Given the description of an element on the screen output the (x, y) to click on. 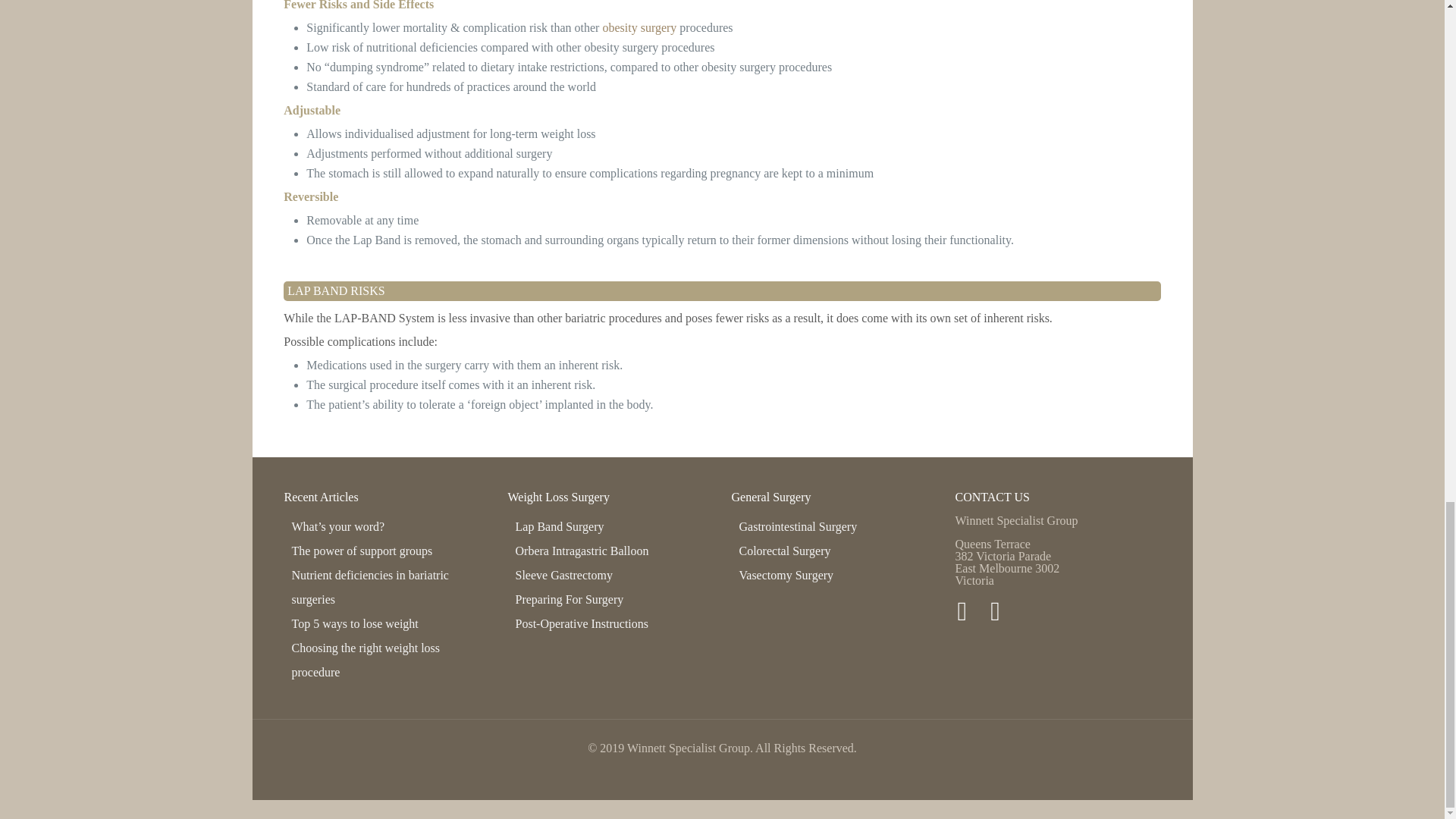
The power of support groups (361, 550)
Top 5 ways to lose weight (354, 623)
obesity surgery (639, 27)
Nutrient deficiencies in bariatric surgeries (369, 587)
